Given the description of an element on the screen output the (x, y) to click on. 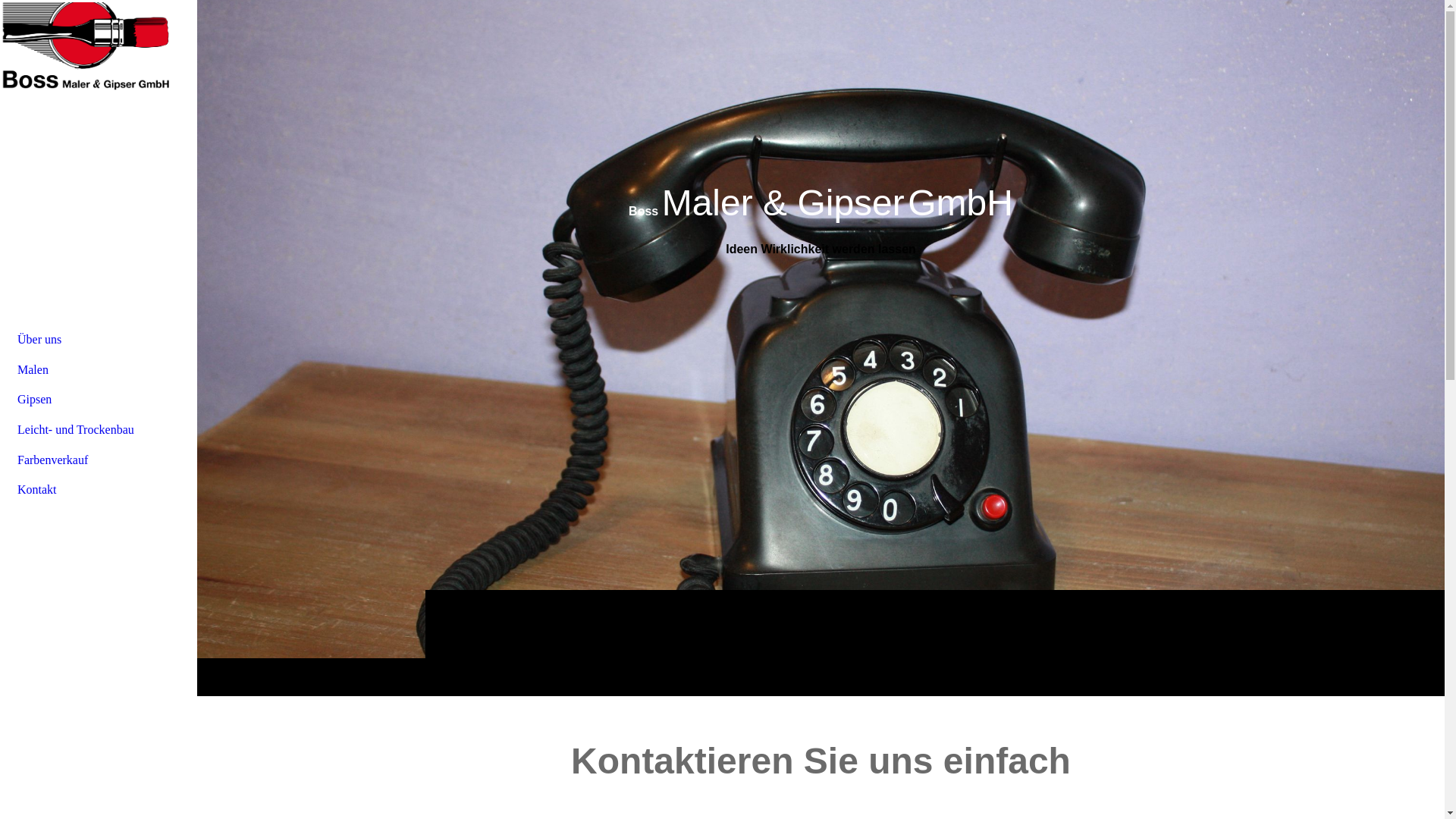
Gipsen Element type: text (98, 399)
Malen Element type: text (98, 369)
Kontakt Element type: text (98, 489)
Leicht- und Trockenbau Element type: text (98, 429)
Farbenverkauf Element type: text (98, 460)
